Given the description of an element on the screen output the (x, y) to click on. 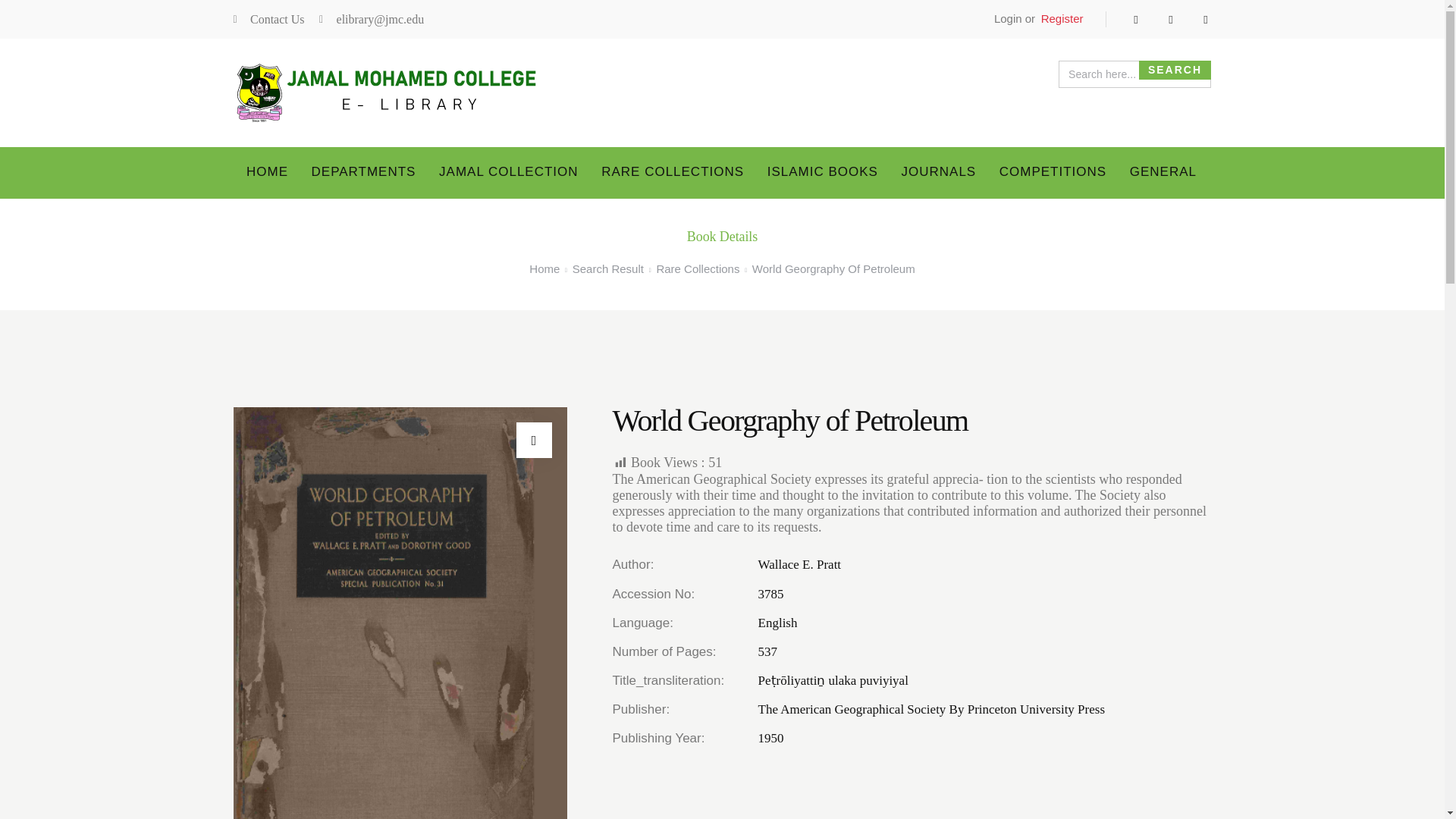
Search (1174, 69)
JAMAL COLLECTION (508, 172)
Search (1174, 69)
DEPARTMENTS (362, 172)
Contact Us (268, 19)
HOME (266, 172)
Login orRegister (1035, 19)
Search (1174, 69)
